Given the description of an element on the screen output the (x, y) to click on. 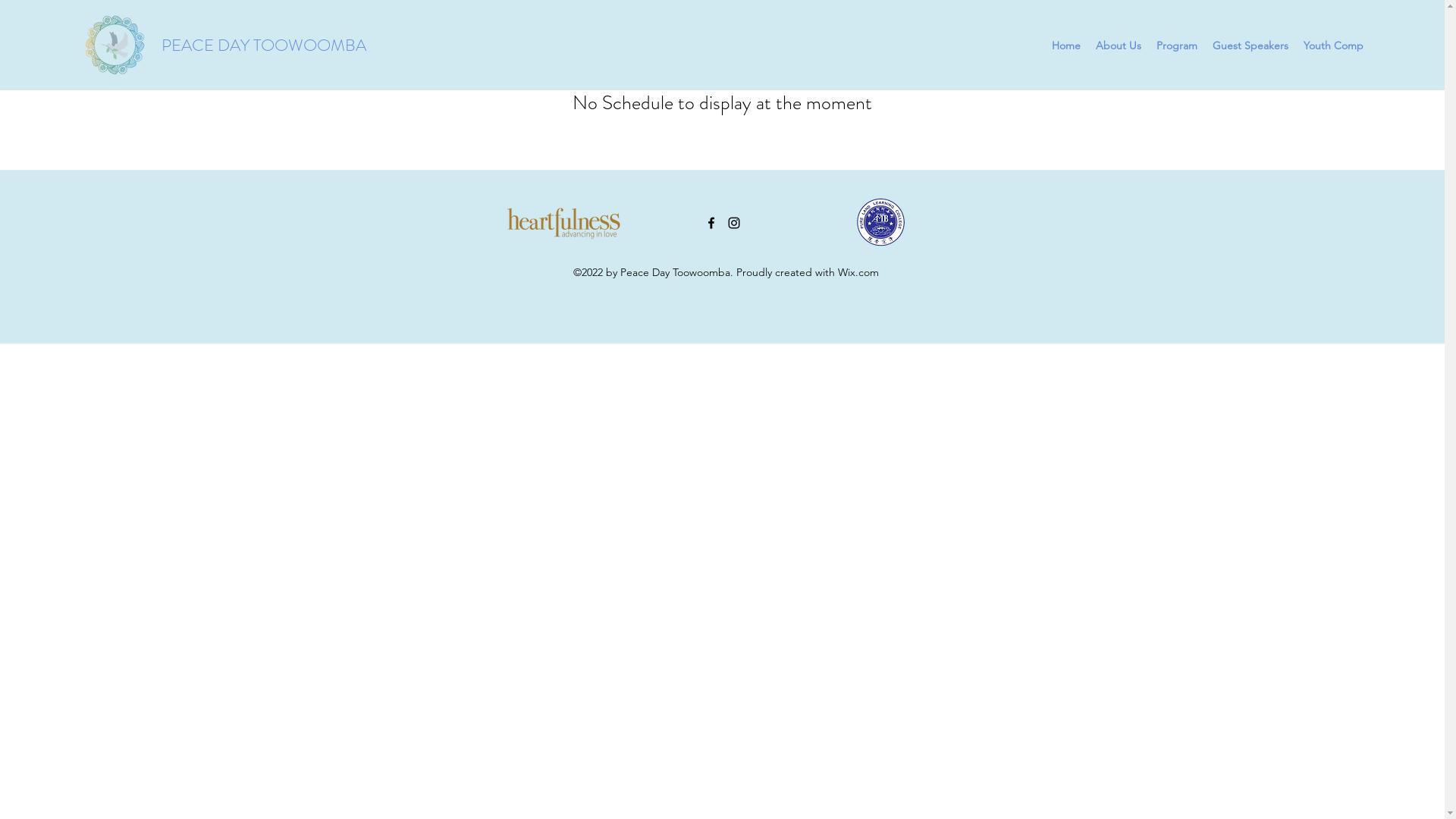
Youth Comp Element type: text (1333, 45)
About Us Element type: text (1118, 45)
Program Element type: text (1176, 45)
PEACE DAY TOOWOOMBA Element type: text (263, 44)
Guest Speakers Element type: text (1249, 45)
Home Element type: text (1066, 45)
